Given the description of an element on the screen output the (x, y) to click on. 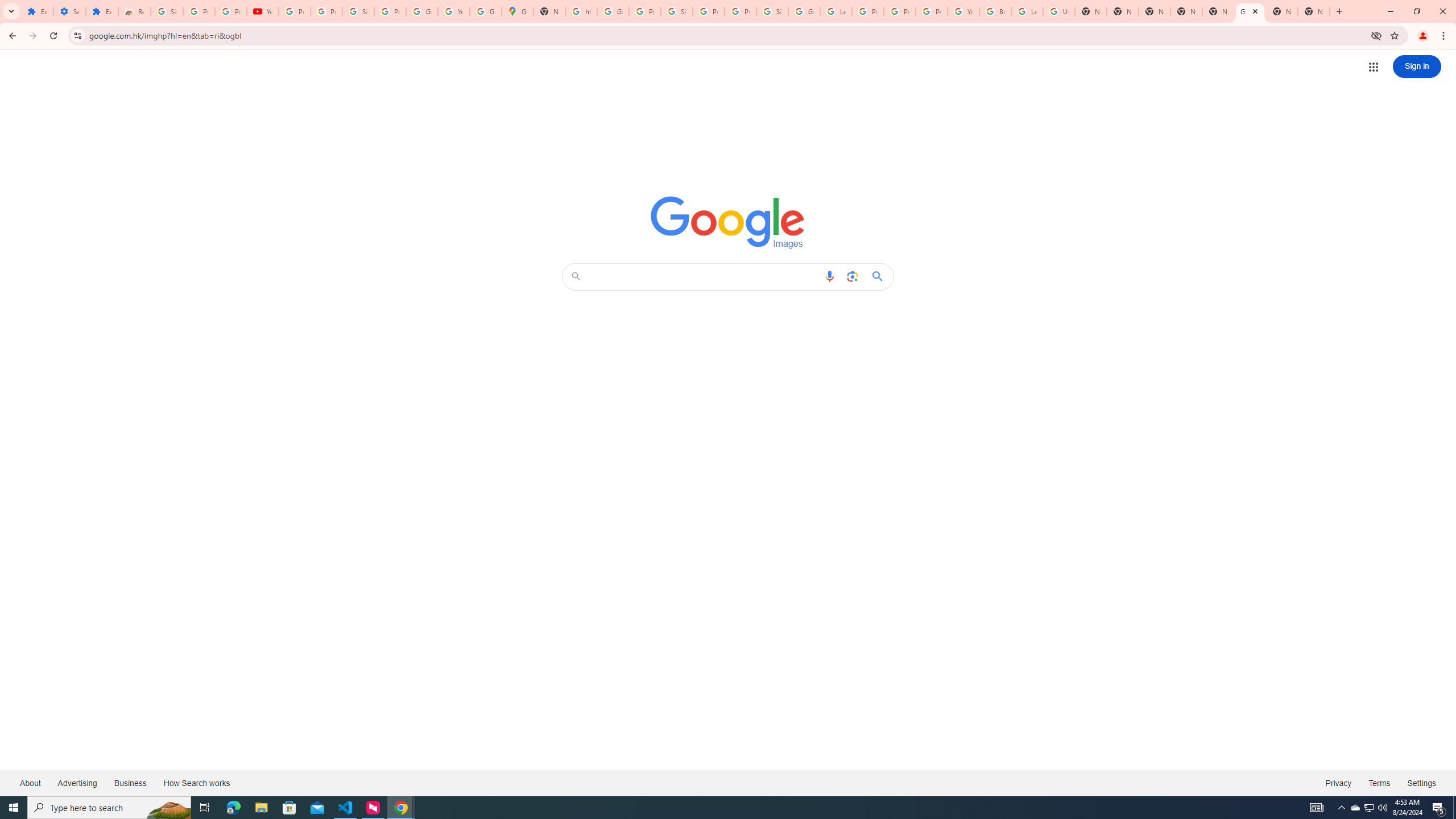
YouTube (963, 11)
Business (129, 782)
Settings (69, 11)
Google Search (880, 276)
